Given the description of an element on the screen output the (x, y) to click on. 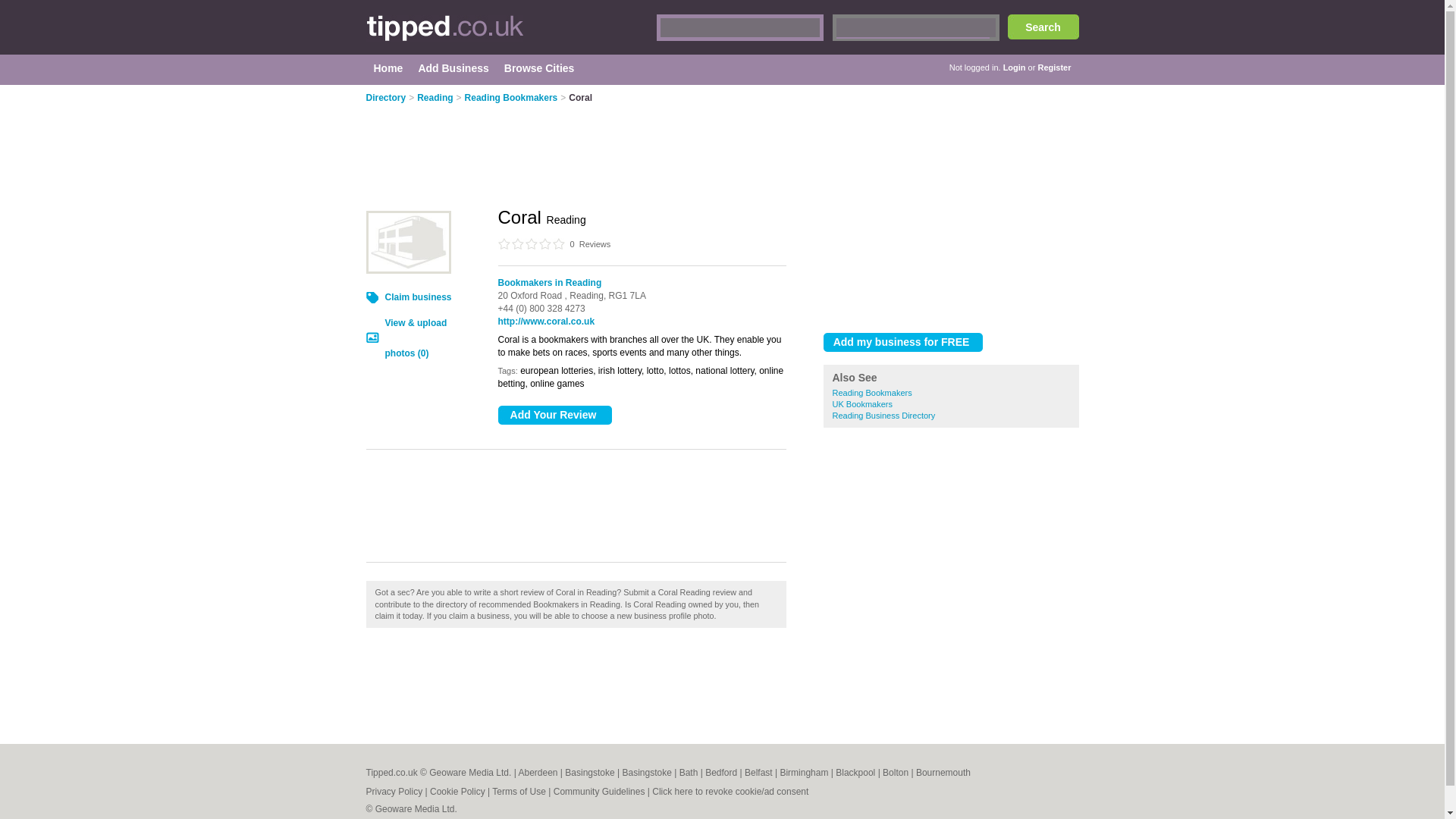
Reading (434, 97)
Register (1053, 67)
Search (1042, 26)
Search (1042, 26)
Coral Reading (407, 241)
Bookmakers in Reading (549, 282)
Home (388, 68)
Login (1014, 67)
Tipped.co.uk (507, 34)
Add Your Review (554, 415)
